Given the description of an element on the screen output the (x, y) to click on. 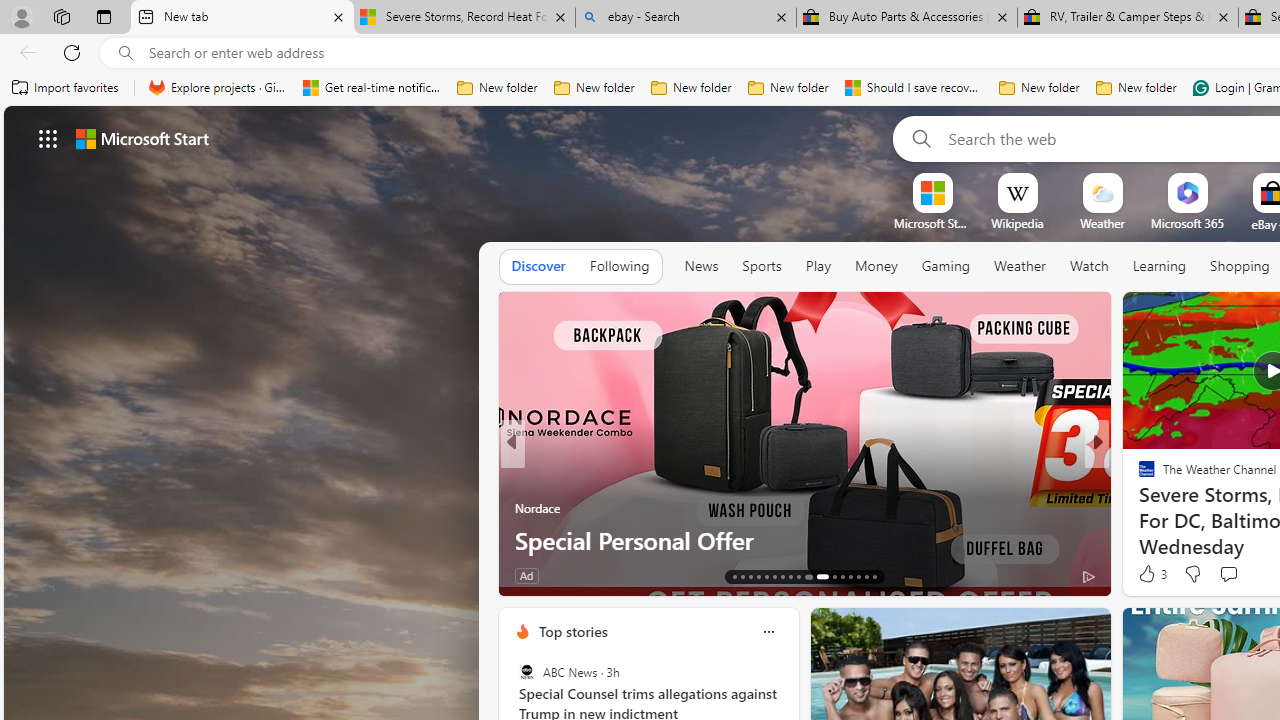
3 Like (1151, 574)
View comments 8 Comment (1229, 575)
View comments 1 Comment (1241, 574)
AutomationID: tab-15 (750, 576)
Learning (1159, 267)
AutomationID: tab-14 (742, 576)
AutomationID: tab-23 (820, 576)
Watch (1089, 265)
AutomationID: tab-27 (857, 576)
Search (917, 138)
Buy Auto Parts & Accessories | eBay (907, 17)
AutomationID: tab-29 (874, 576)
New folder (1136, 88)
Start the conversation (1227, 574)
To get missing image descriptions, open the context menu. (932, 192)
